Given the description of an element on the screen output the (x, y) to click on. 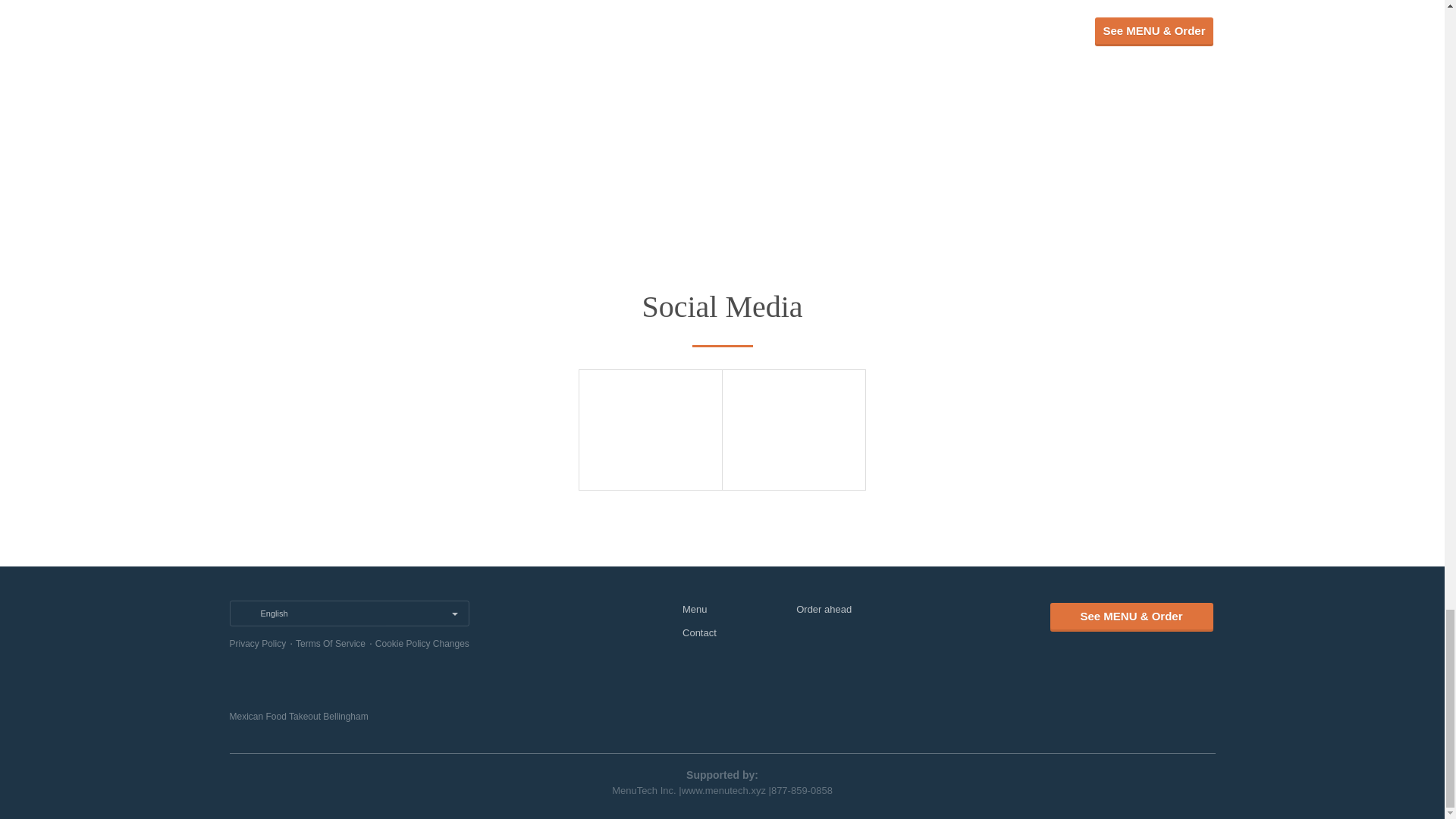
Terms Of Service (330, 643)
Menu (694, 609)
Contact (699, 632)
Privacy Policy (256, 643)
Cookie Policy Changes (421, 643)
Order ahead (823, 609)
Mexican Food Takeout Bellingham (298, 716)
